Given the description of an element on the screen output the (x, y) to click on. 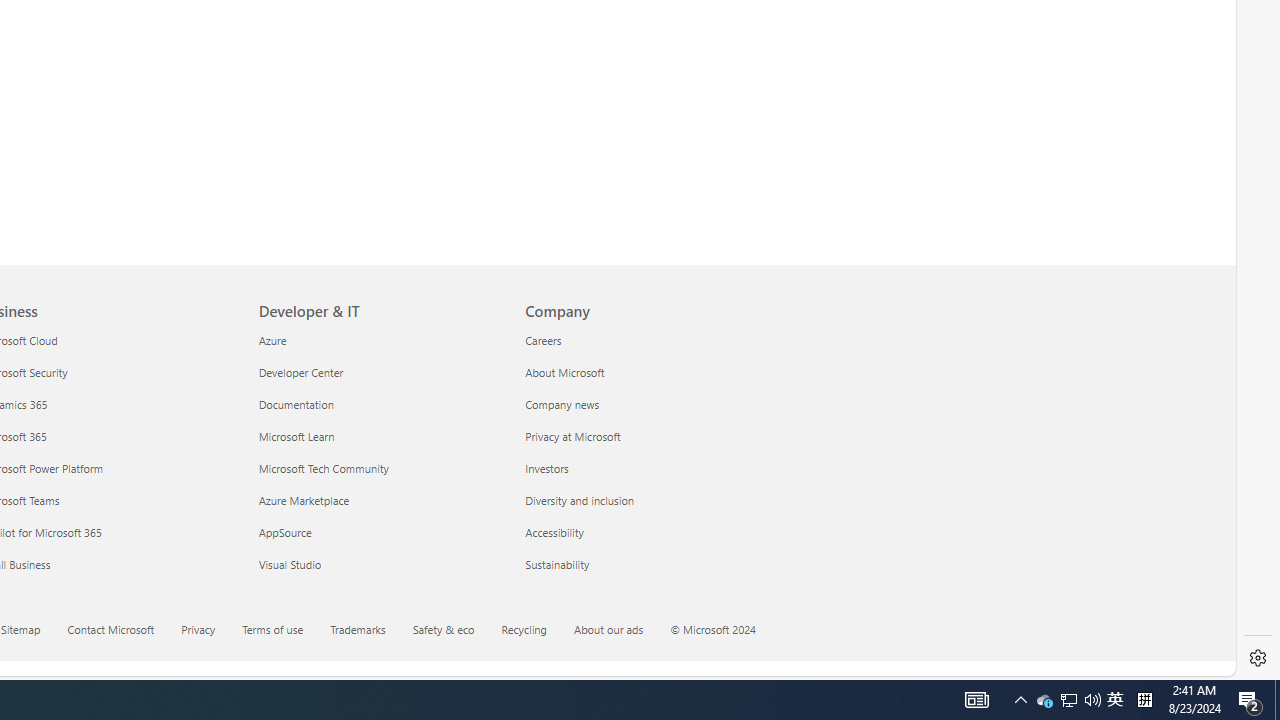
Trademarks (358, 628)
Safety & eco (455, 631)
Azure Developer & IT (272, 339)
Sitemap (32, 631)
Diversity and inclusion (646, 499)
Recycling (536, 631)
Diversity and inclusion Company (579, 499)
Careers (646, 340)
About Microsoft (646, 371)
Investors Company (546, 467)
Trademarks (369, 631)
Terms of use (284, 631)
Sitemap (20, 628)
Privacy at Microsoft (646, 435)
Terms of use (272, 628)
